Given the description of an element on the screen output the (x, y) to click on. 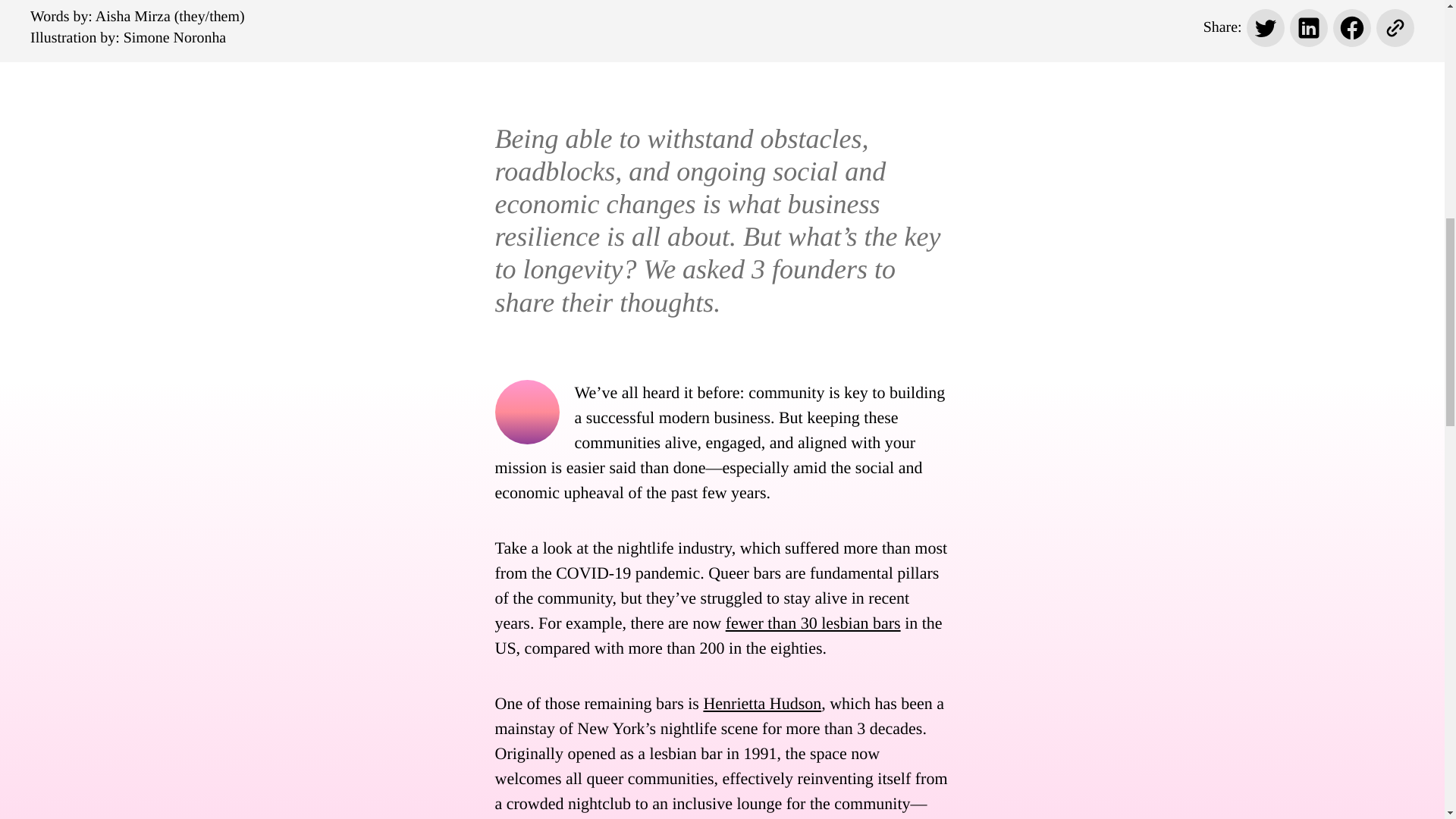
fewer than 30 lesbian bars (813, 622)
Henrietta Hudson (762, 702)
